Given the description of an element on the screen output the (x, y) to click on. 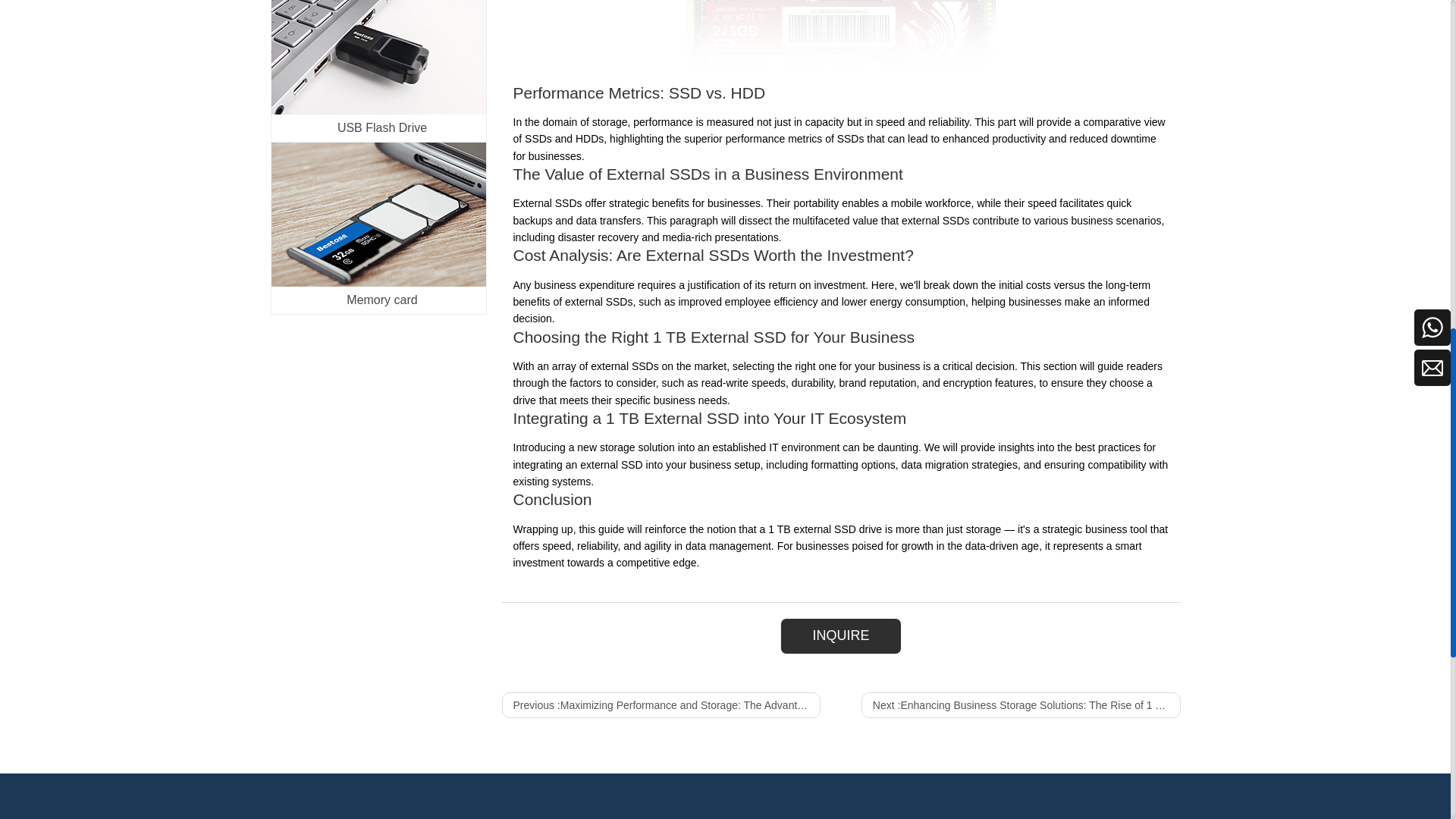
USB Flash Drive (378, 57)
Memory card (378, 214)
